Given the description of an element on the screen output the (x, y) to click on. 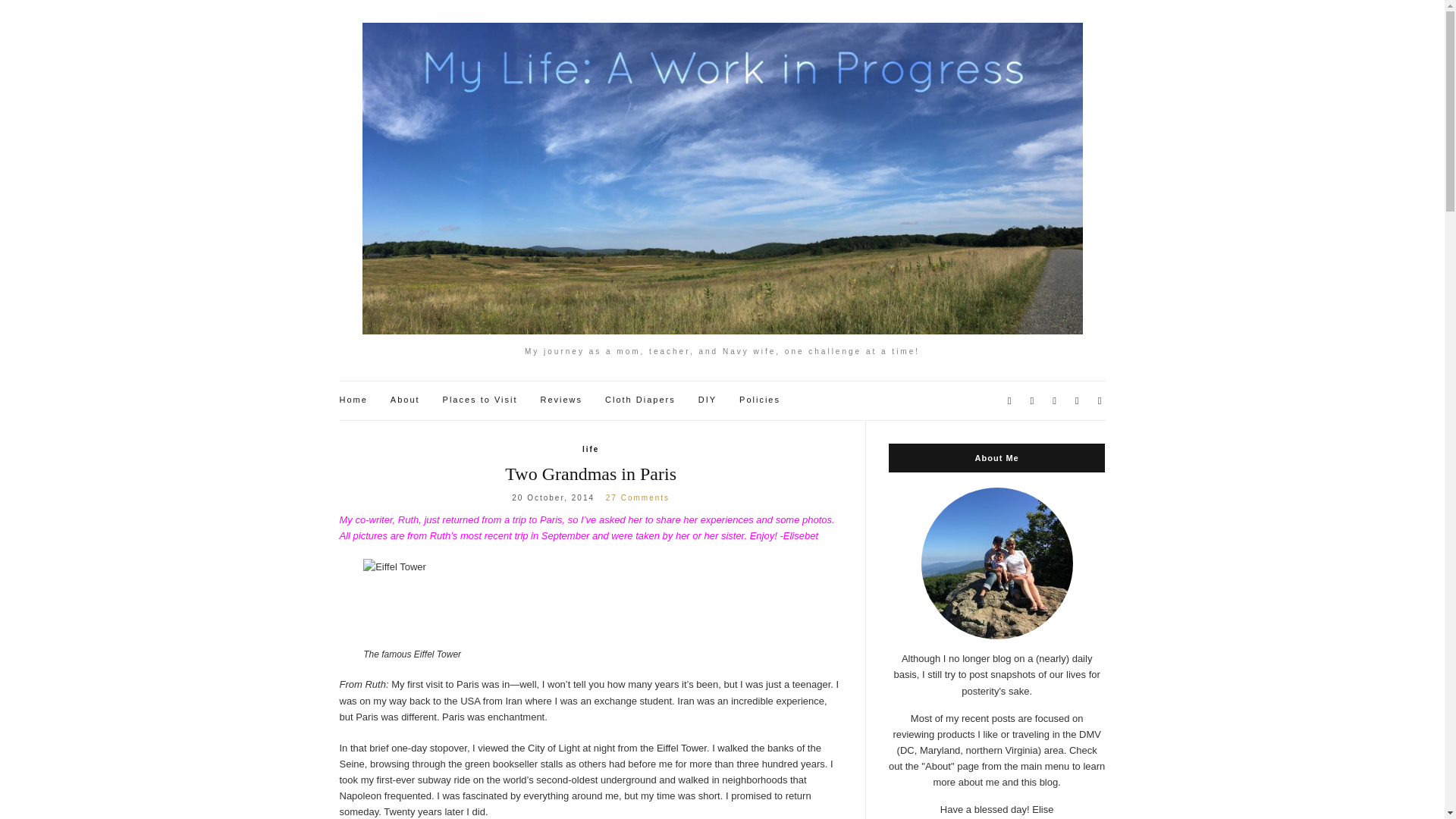
Home (353, 400)
life (590, 449)
Cloth Diapers (640, 400)
27 Comments (637, 497)
About (405, 400)
Places to Visit (480, 400)
Policies (759, 400)
Reviews (561, 400)
DIY (707, 400)
Two Grandmas in Paris (591, 474)
